Given the description of an element on the screen output the (x, y) to click on. 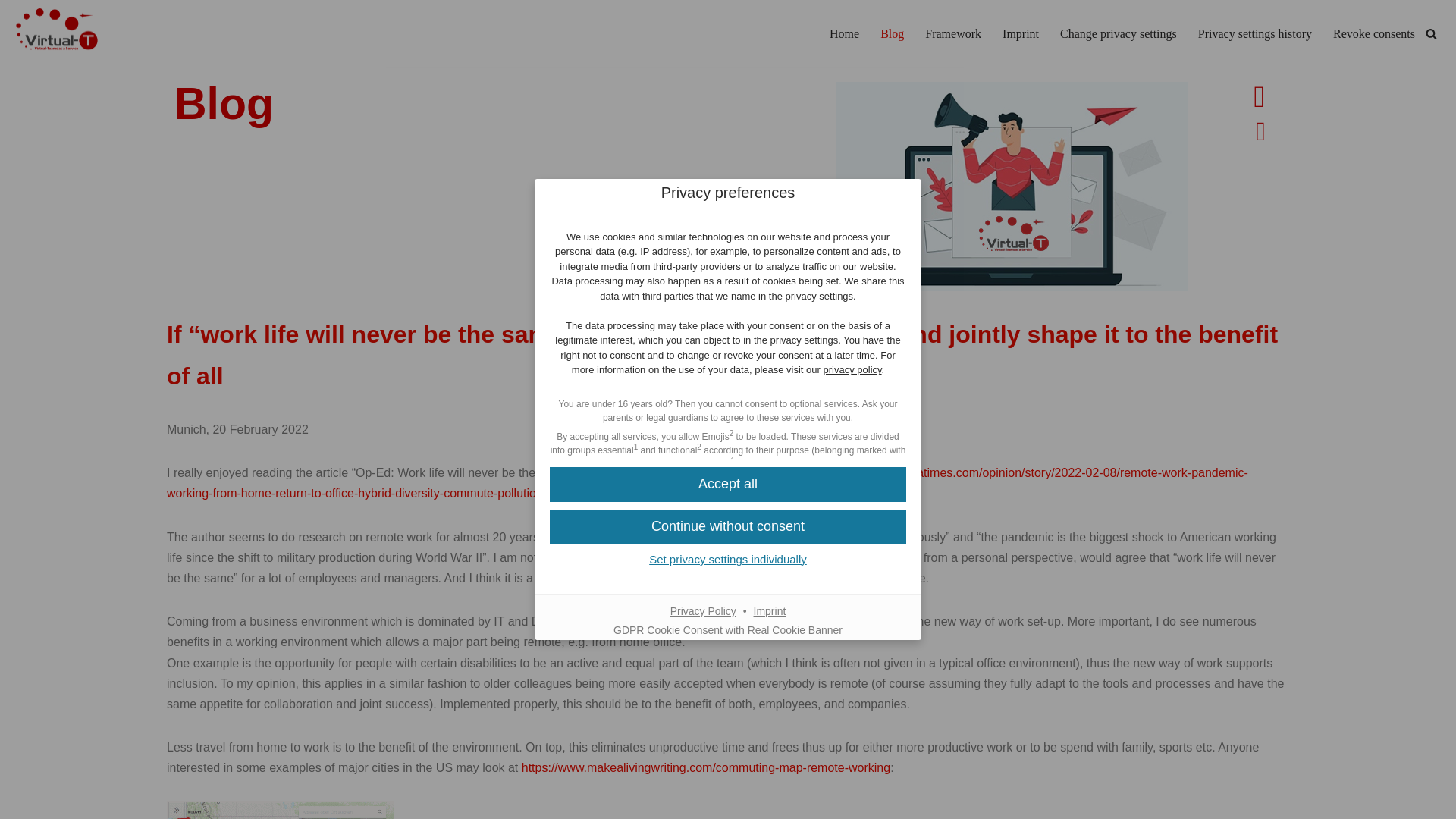
Set privacy settings individually (727, 559)
Revoke consents (1374, 33)
Accept all (727, 483)
Continue without consent (727, 526)
Blog (892, 33)
privacy policy (853, 369)
Change privacy settings (1117, 33)
Home (844, 33)
Imprint (1021, 33)
